Given the description of an element on the screen output the (x, y) to click on. 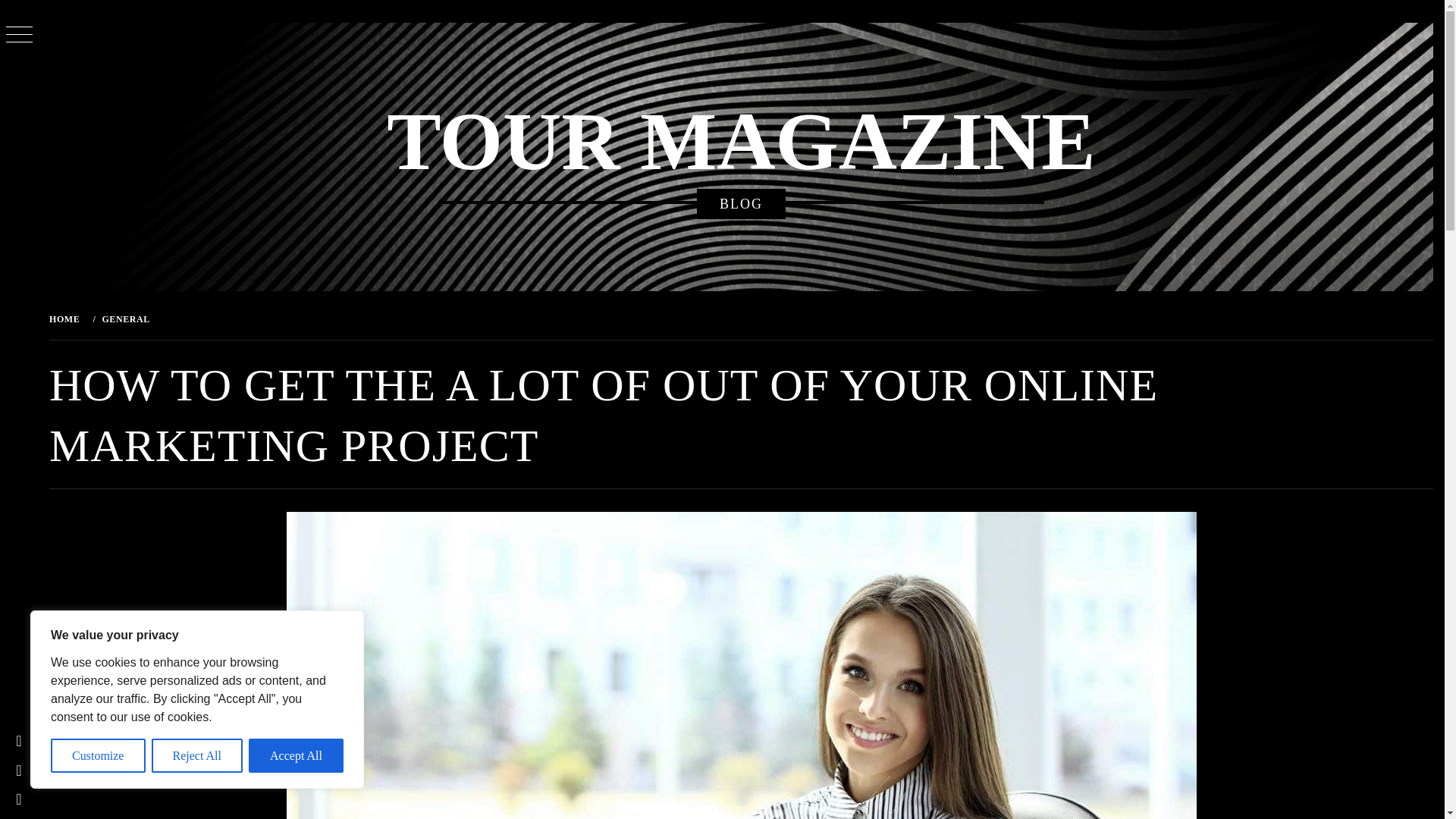
HOW TO GET THE A LOT OF OUT OF YOUR ONLINE MARKETING PROJECT (350, 318)
GENERAL (124, 318)
Accept All (295, 755)
Reject All (197, 755)
Customize (97, 755)
TOUR MAGAZINE (740, 141)
HOME (66, 318)
